Given the description of an element on the screen output the (x, y) to click on. 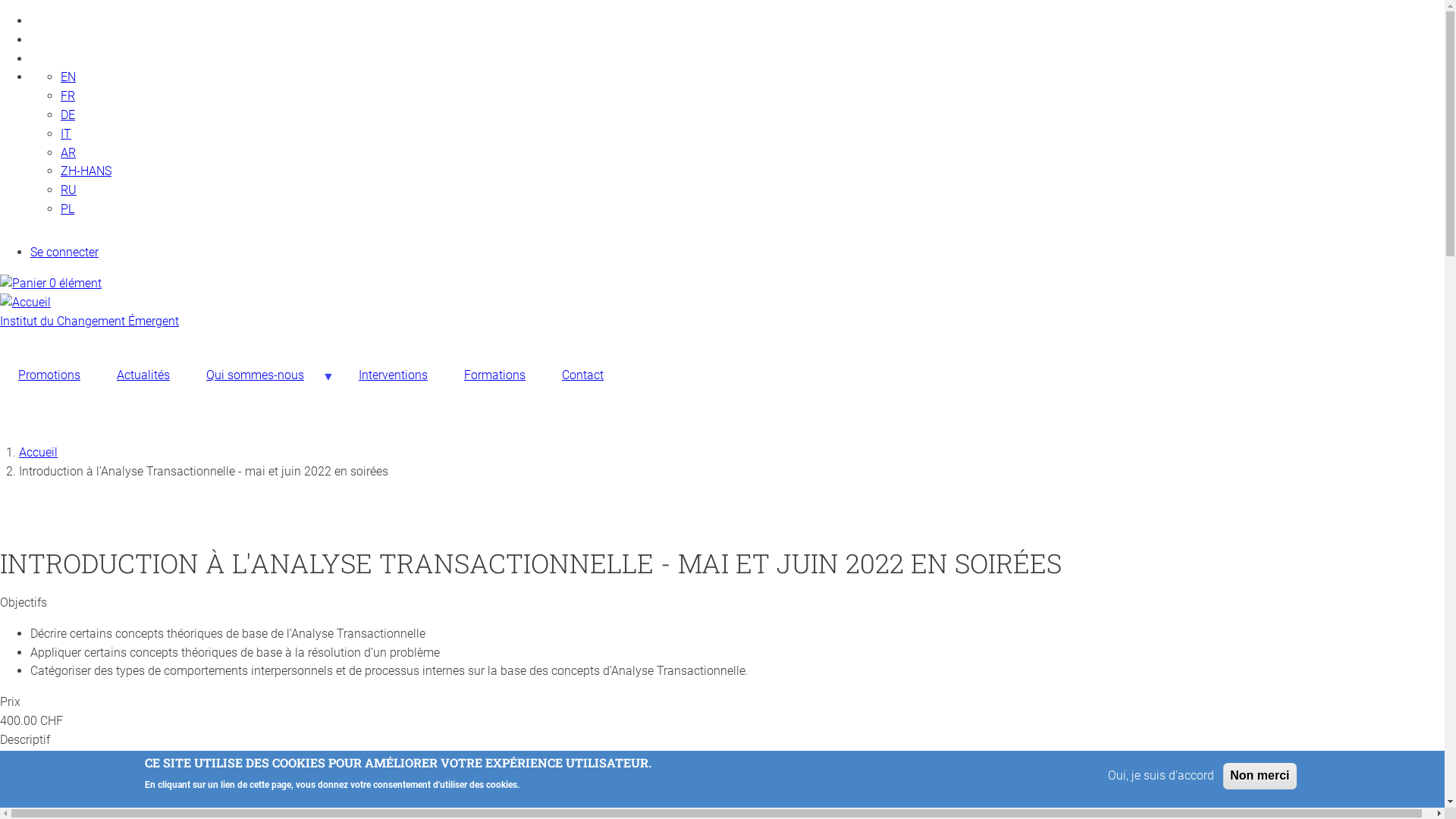
Formations Element type: text (494, 375)
EN Element type: text (67, 76)
Non merci Element type: text (1259, 775)
Aller au contenu principal Element type: text (0, 12)
Contact Element type: text (582, 375)
RU Element type: text (68, 189)
Interventions Element type: text (392, 375)
IT Element type: text (65, 133)
Se connecter Element type: text (64, 251)
FR Element type: text (67, 95)
Oui, je suis d'accord Element type: text (1160, 775)
Accueil Element type: hover (25, 301)
ZH-HANS Element type: text (85, 170)
Accueil Element type: text (37, 452)
PL Element type: text (67, 208)
Promotions Element type: text (49, 375)
DE Element type: text (67, 114)
AR Element type: text (67, 152)
